Given the description of an element on the screen output the (x, y) to click on. 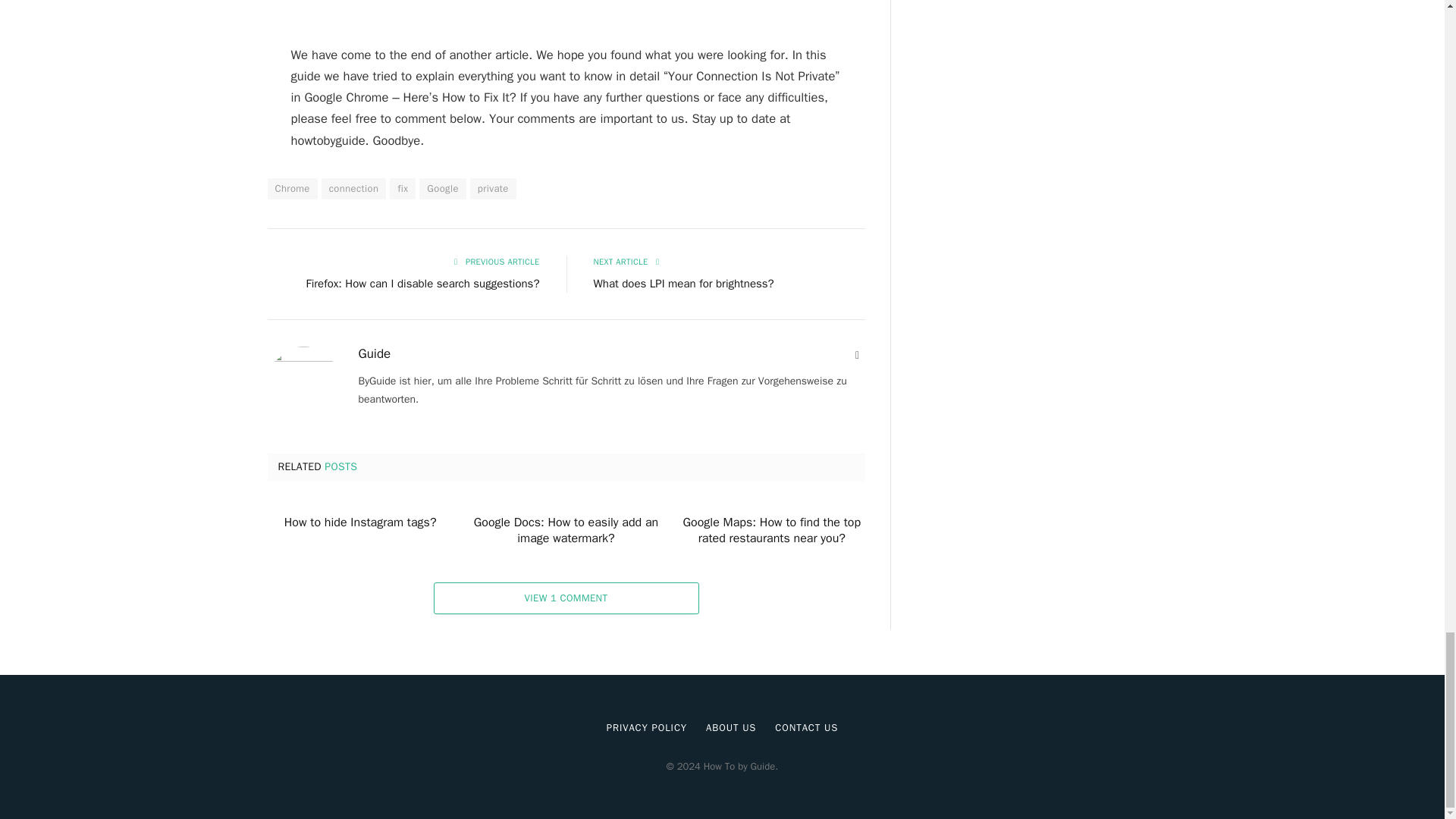
Website (856, 355)
Chrome (291, 188)
Google (442, 188)
connection (354, 188)
Posts by Guide (374, 353)
fix (402, 188)
